Given the description of an element on the screen output the (x, y) to click on. 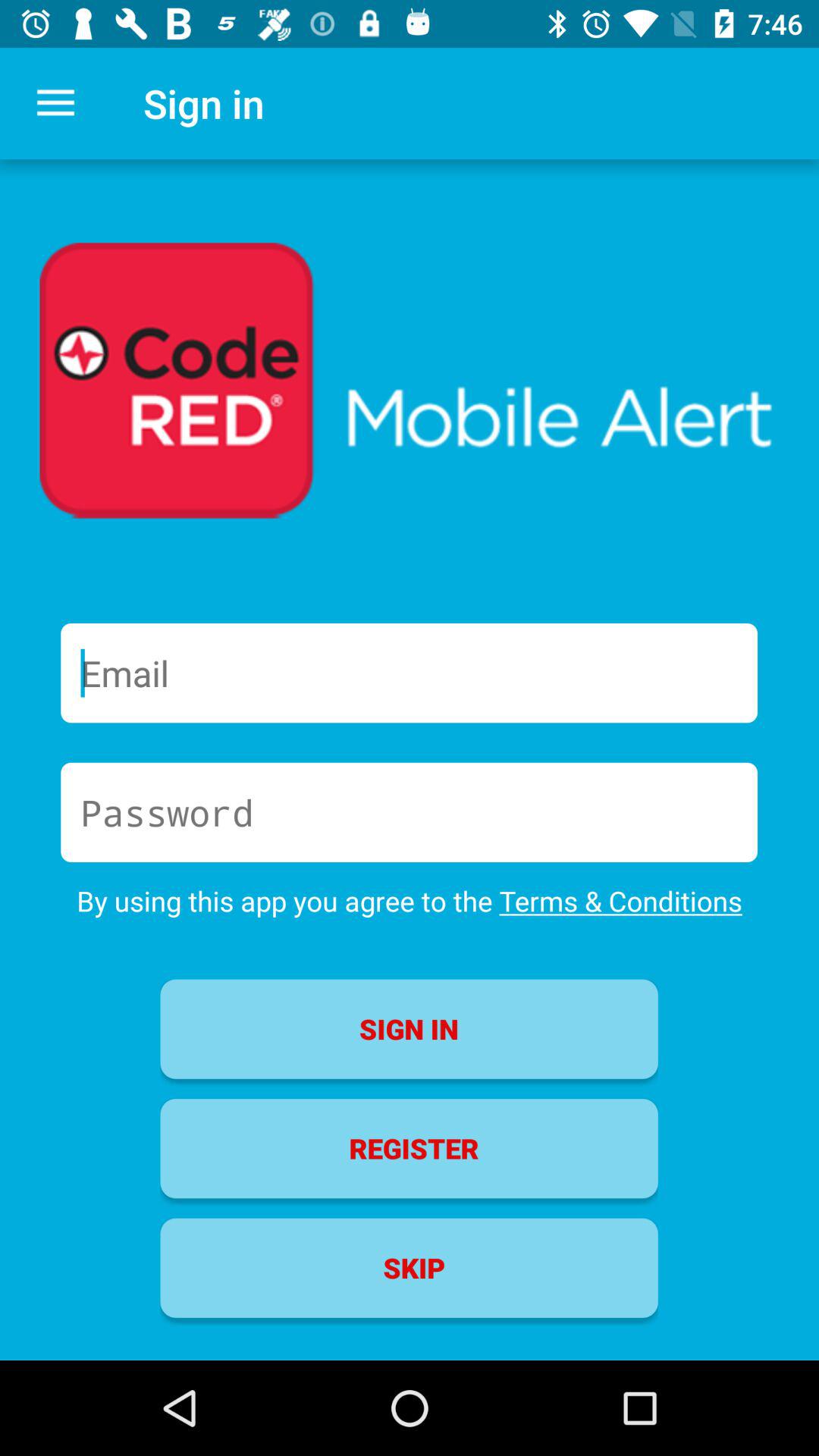
enter password (408, 812)
